Given the description of an element on the screen output the (x, y) to click on. 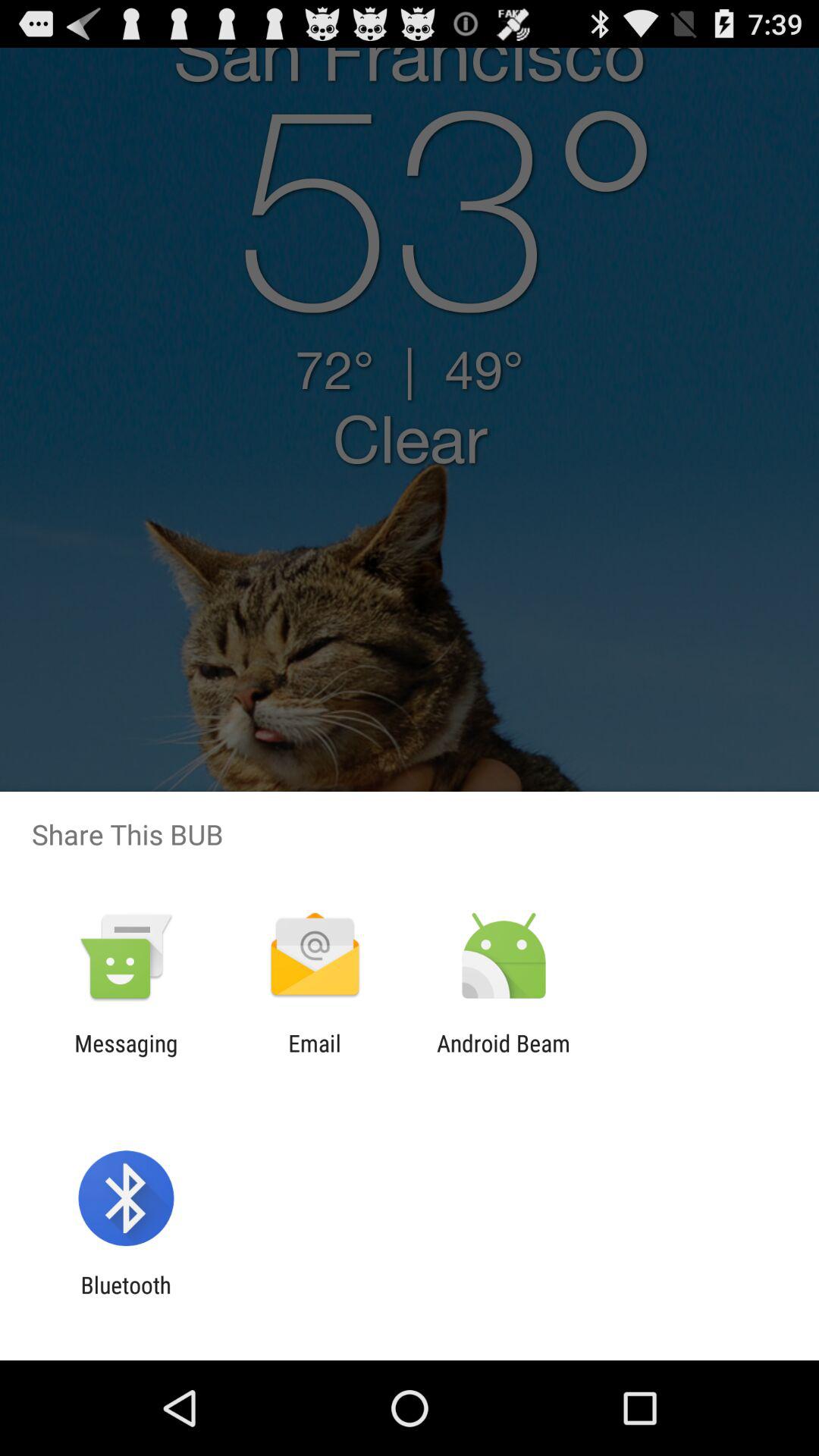
open the item next to messaging app (314, 1056)
